Given the description of an element on the screen output the (x, y) to click on. 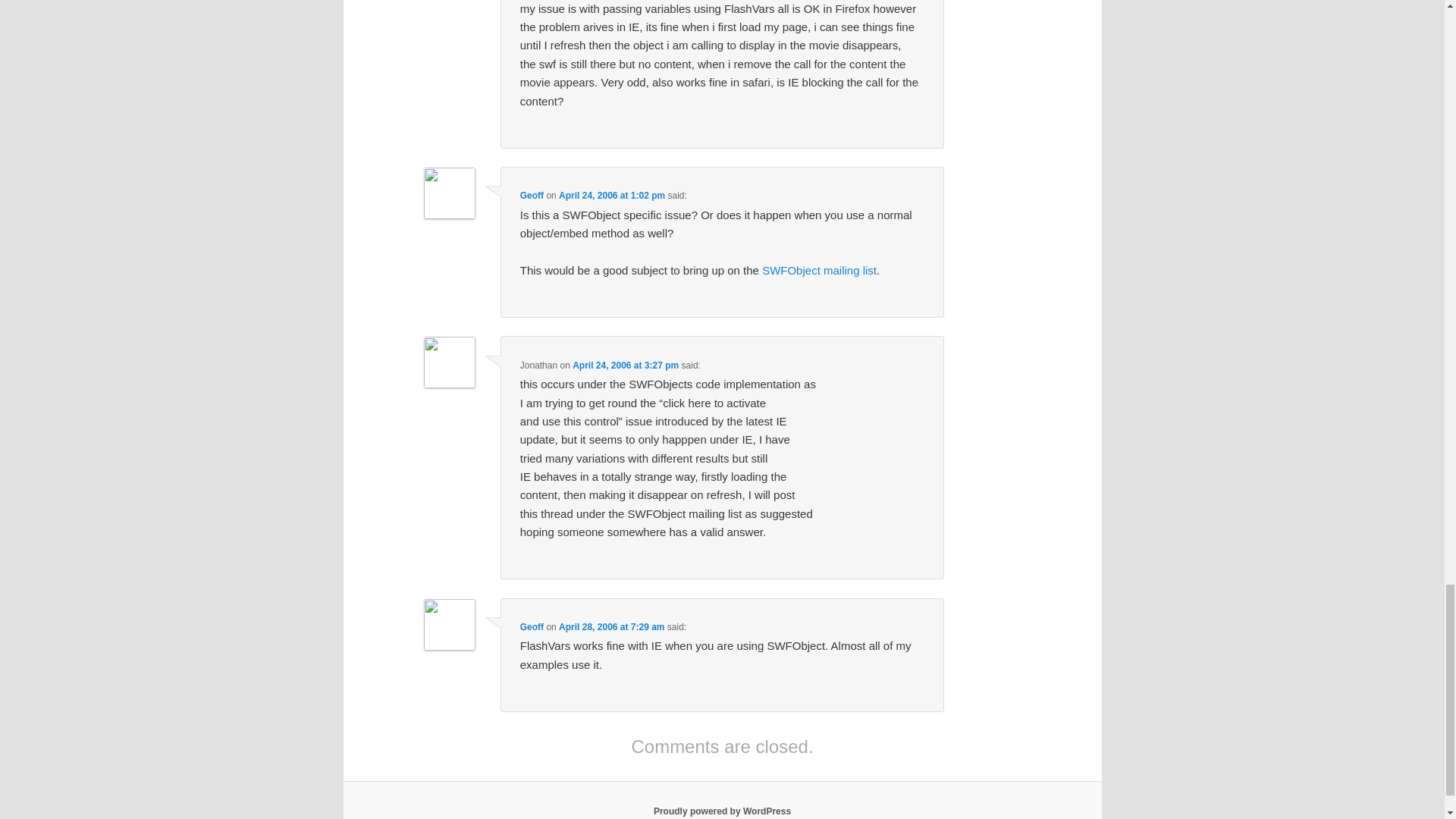
Semantic Personal Publishing Platform (721, 810)
Geoff (531, 195)
